Given the description of an element on the screen output the (x, y) to click on. 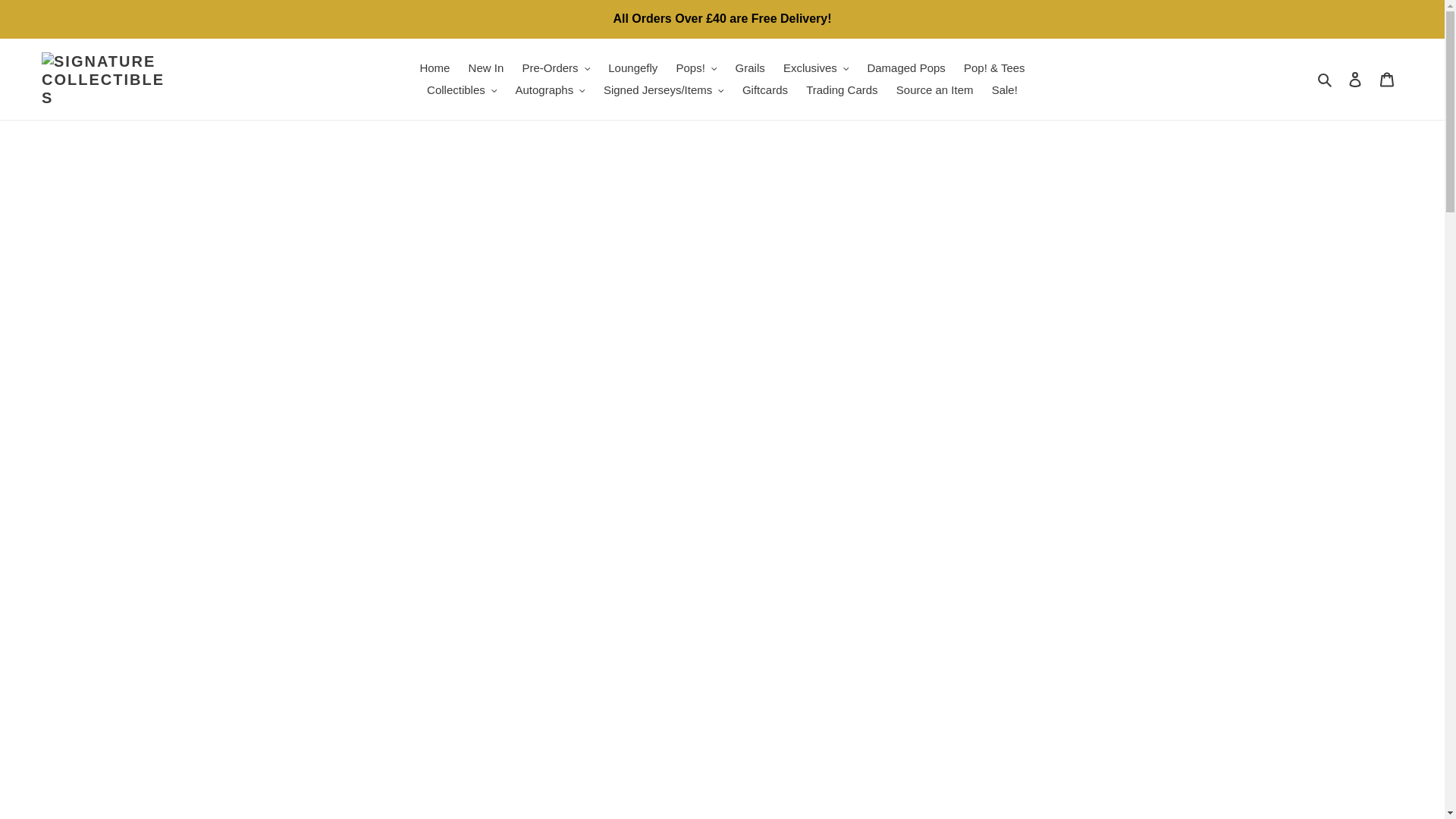
Home (434, 68)
New In (486, 68)
Pops! (696, 68)
Pre-Orders (554, 68)
Damaged Pops (905, 68)
Grails (750, 68)
Loungefly (632, 68)
Collectibles (461, 89)
Exclusives (816, 68)
